Given the description of an element on the screen output the (x, y) to click on. 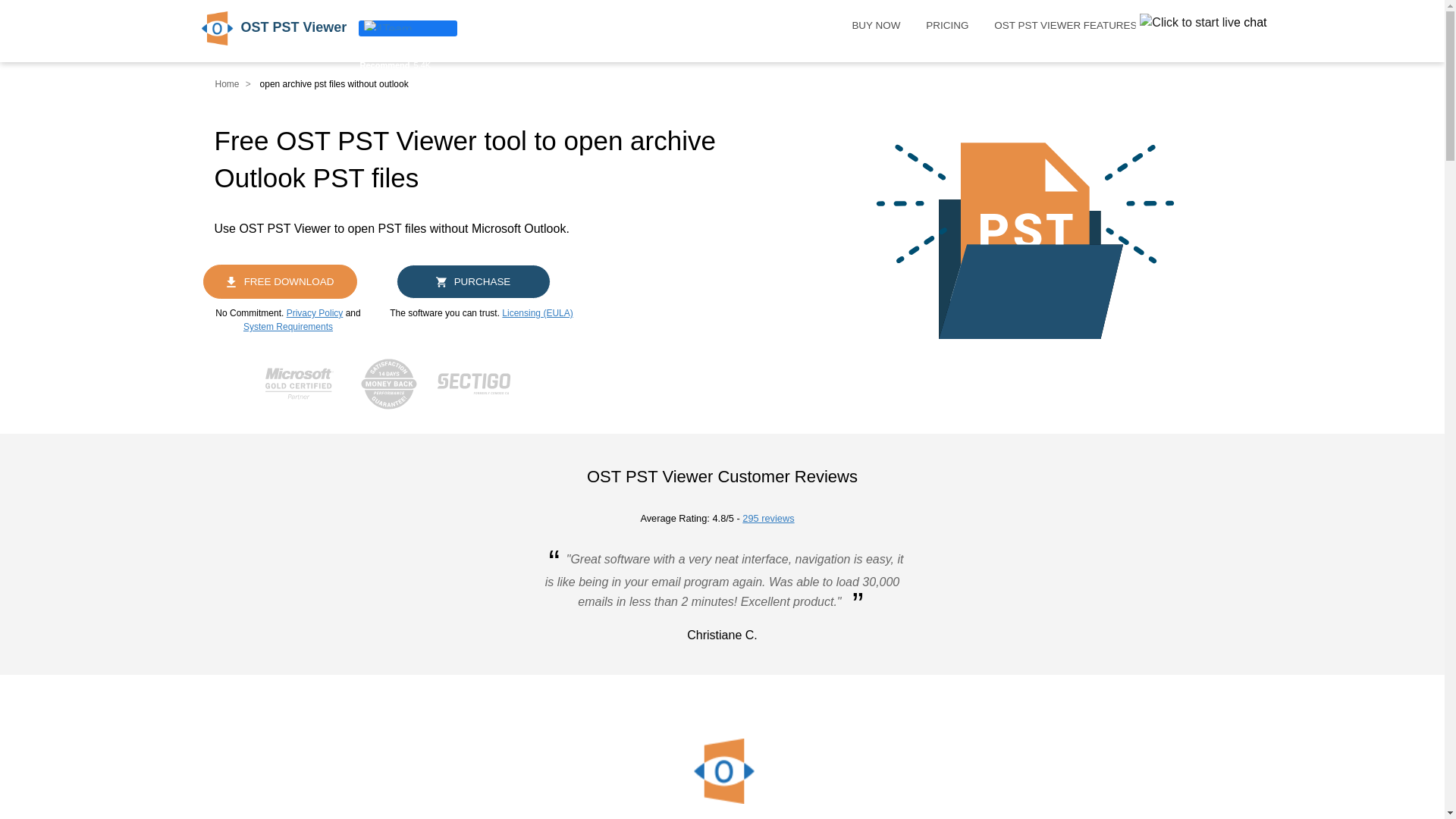
Privacy Policy (314, 312)
OST PST Viewer (267, 28)
Click here to read the reviews (767, 518)
Download OST PST Viewer now (279, 281)
PRICING (946, 24)
System Requirements (288, 326)
295 reviews (767, 518)
PURCHASE (473, 281)
Recommend5.4K (407, 28)
Home (227, 83)
